Given the description of an element on the screen output the (x, y) to click on. 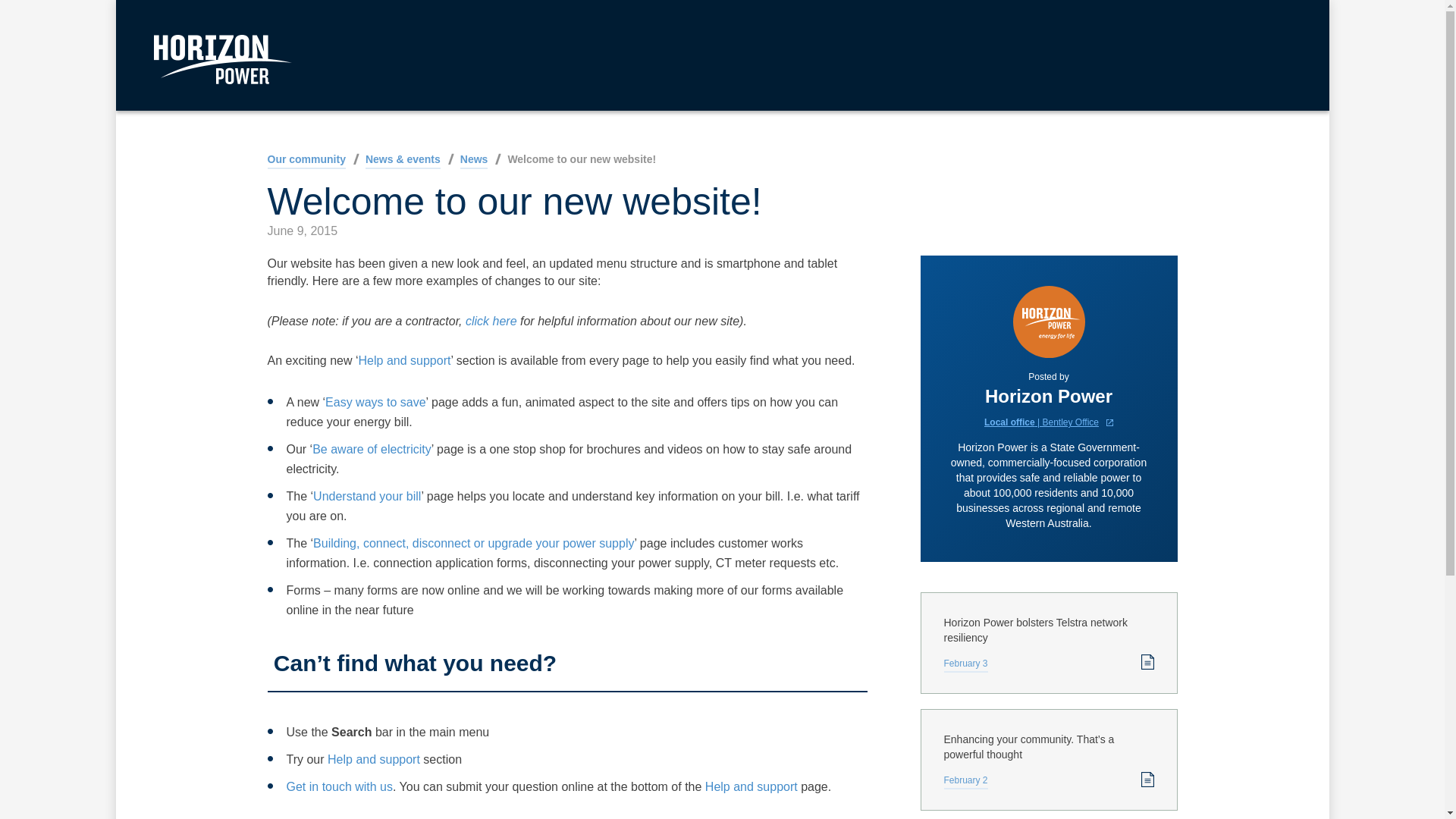
Contact (339, 786)
Building, connect, disconnect or upgrade your power supply (473, 543)
February 3 (965, 665)
Help and support (750, 786)
Easy ways to save (375, 401)
February 2 (965, 781)
Easy ways to save (375, 401)
Be aware of electricity (371, 449)
Get in touch with us (339, 786)
News (473, 160)
Building, connect, disconnect or upgrade your power supply (473, 543)
Our community (305, 160)
click here (490, 320)
Help and support (404, 359)
Help and support (373, 758)
